Given the description of an element on the screen output the (x, y) to click on. 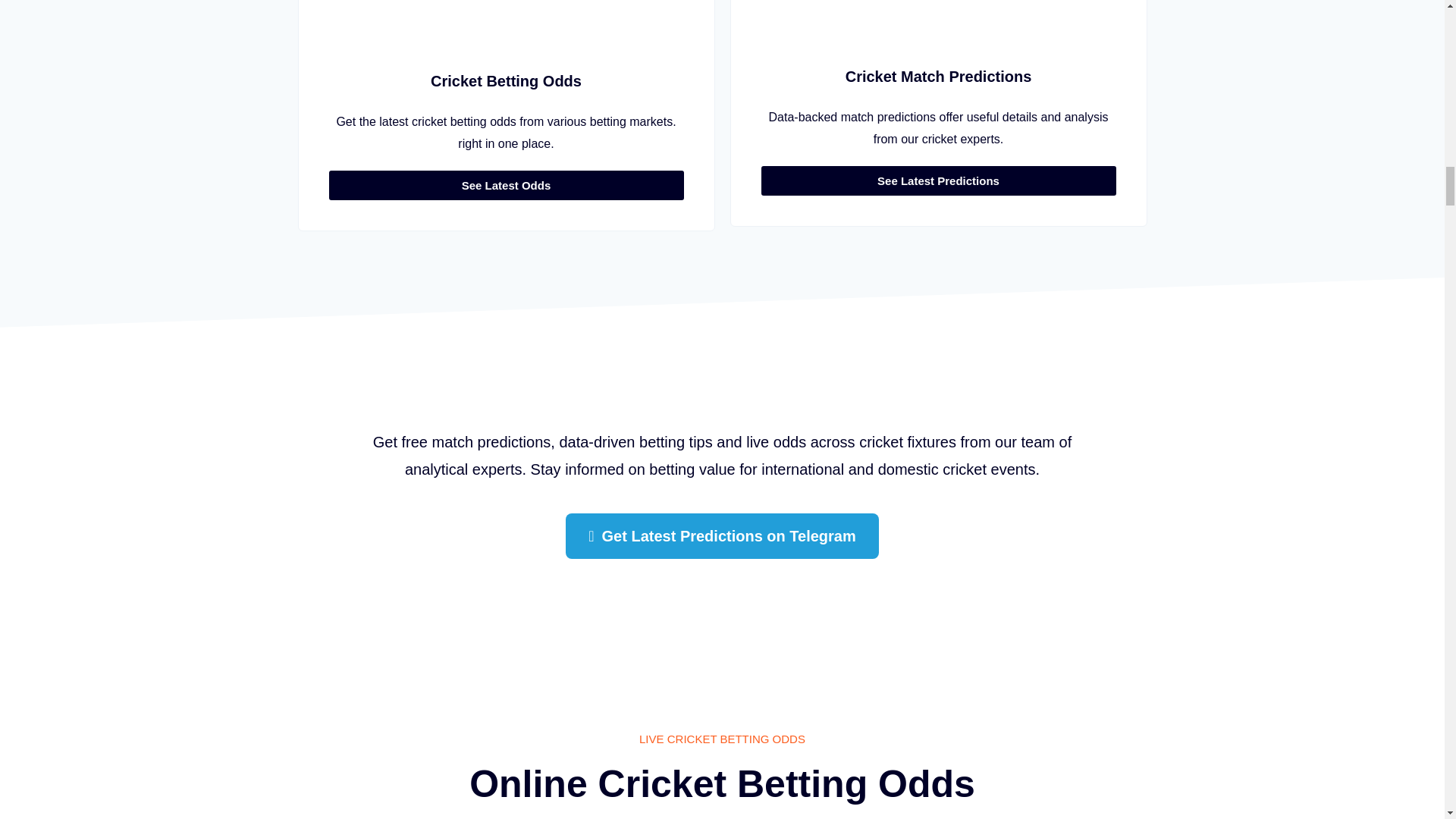
See Latest Predictions (938, 180)
Get Latest Predictions on Telegram (722, 535)
See Latest Odds (506, 184)
